Given the description of an element on the screen output the (x, y) to click on. 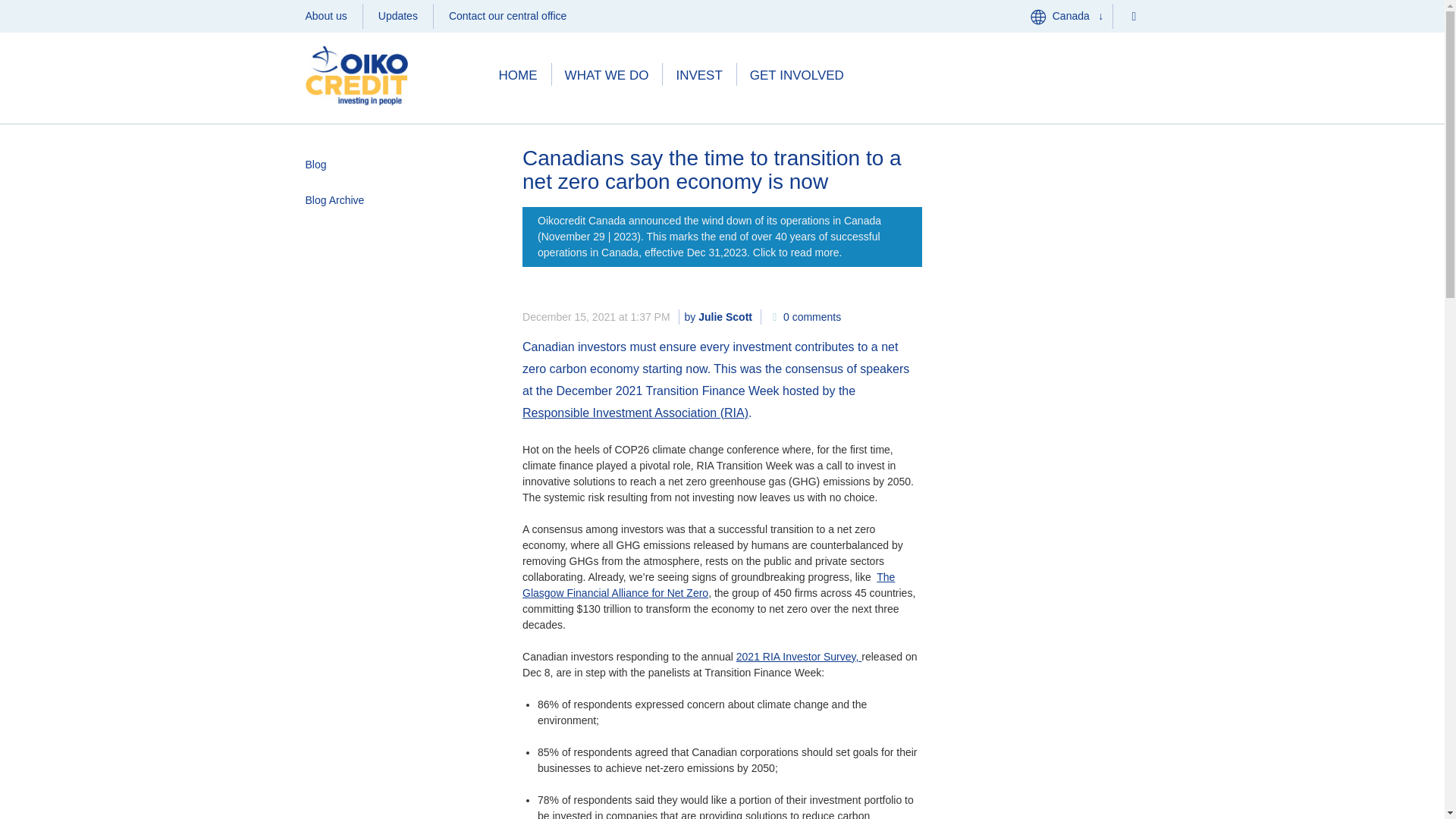
Contact our central office (506, 16)
Read more (721, 236)
INVEST (698, 75)
Show comments for this post (805, 317)
WHAT WE DO (606, 75)
Show posts by "Julie Scott" (725, 317)
About us (325, 16)
Updates (397, 16)
Blog Archive (395, 200)
GET INVOLVED (796, 75)
